Given the description of an element on the screen output the (x, y) to click on. 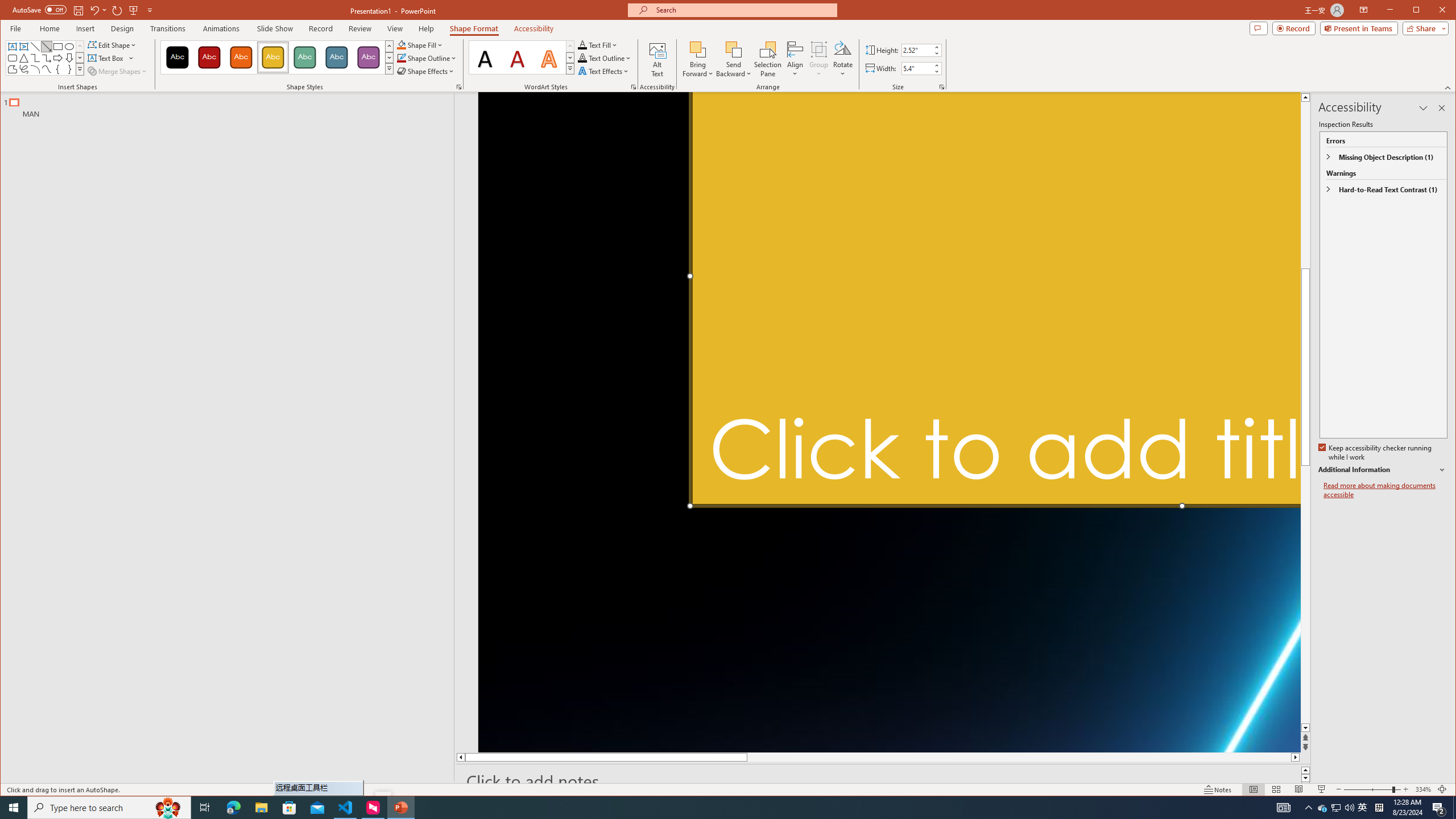
Curve (46, 69)
Additional Information (1382, 469)
Alt Text (657, 59)
Size and Position... (941, 86)
Shape Outline Blue, Accent 1 (400, 57)
Edit Shape (112, 44)
Fill: Dark Red, Accent color 1; Shadow (517, 57)
Colored Fill - Blue-Gray, Accent 5 (336, 57)
Arrow: Right (58, 57)
Keep accessibility checker running while I work (1375, 452)
